Given the description of an element on the screen output the (x, y) to click on. 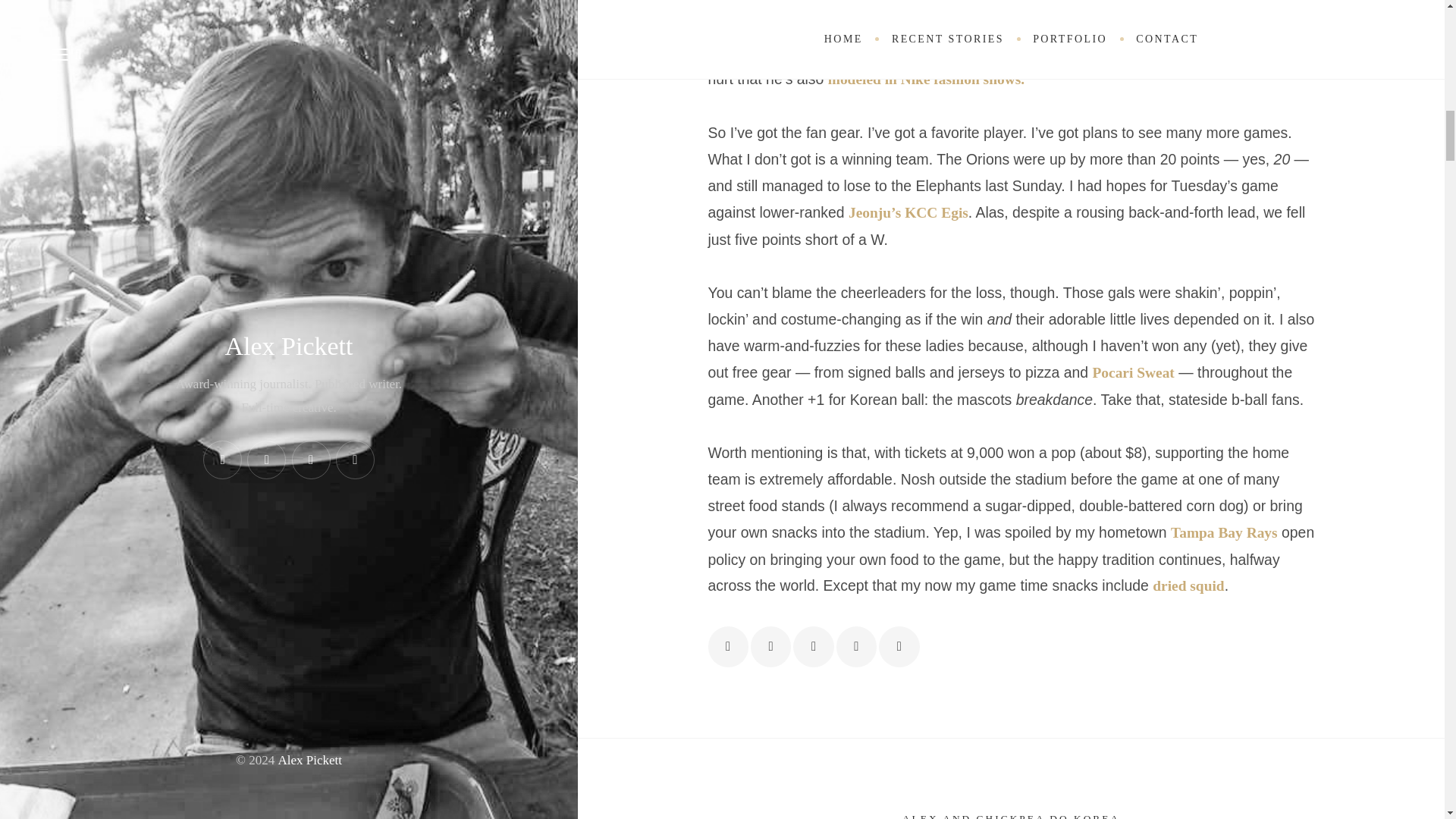
Share on Google Plus (812, 646)
Pin It (855, 646)
Share on Tumblr (898, 646)
Tweet It (770, 646)
Share on Facebook (727, 646)
